Given the description of an element on the screen output the (x, y) to click on. 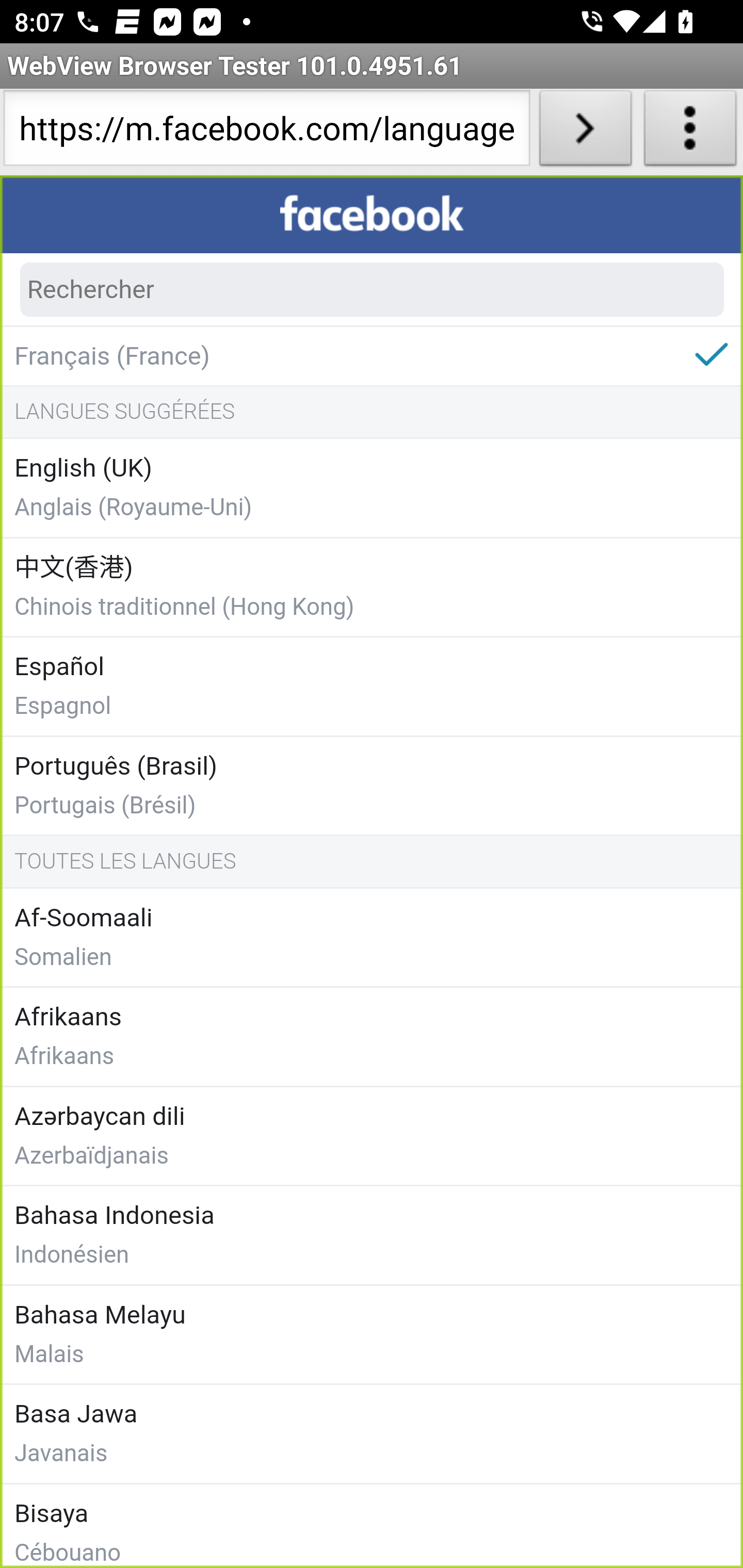
Load URL (585, 132)
About WebView (690, 132)
facebook (371, 214)
English (UK)Anglais (Royaume-Uni) (371, 489)
中文(香港)Chinois traditionnel (Hong Kong) (371, 587)
EspañolEspagnol (371, 688)
Português (Brasil)Portugais (Brésil) (371, 786)
Af-SoomaaliSomalien (371, 937)
AfrikaansAfrikaans (371, 1037)
Azərbaycan diliAzerbaïdjanais (371, 1135)
Bahasa IndonesiaIndonésien (371, 1236)
Bahasa MelayuMalais (371, 1334)
Basa JawaJavanais (371, 1435)
BisayaCébouano (371, 1524)
